Given the description of an element on the screen output the (x, y) to click on. 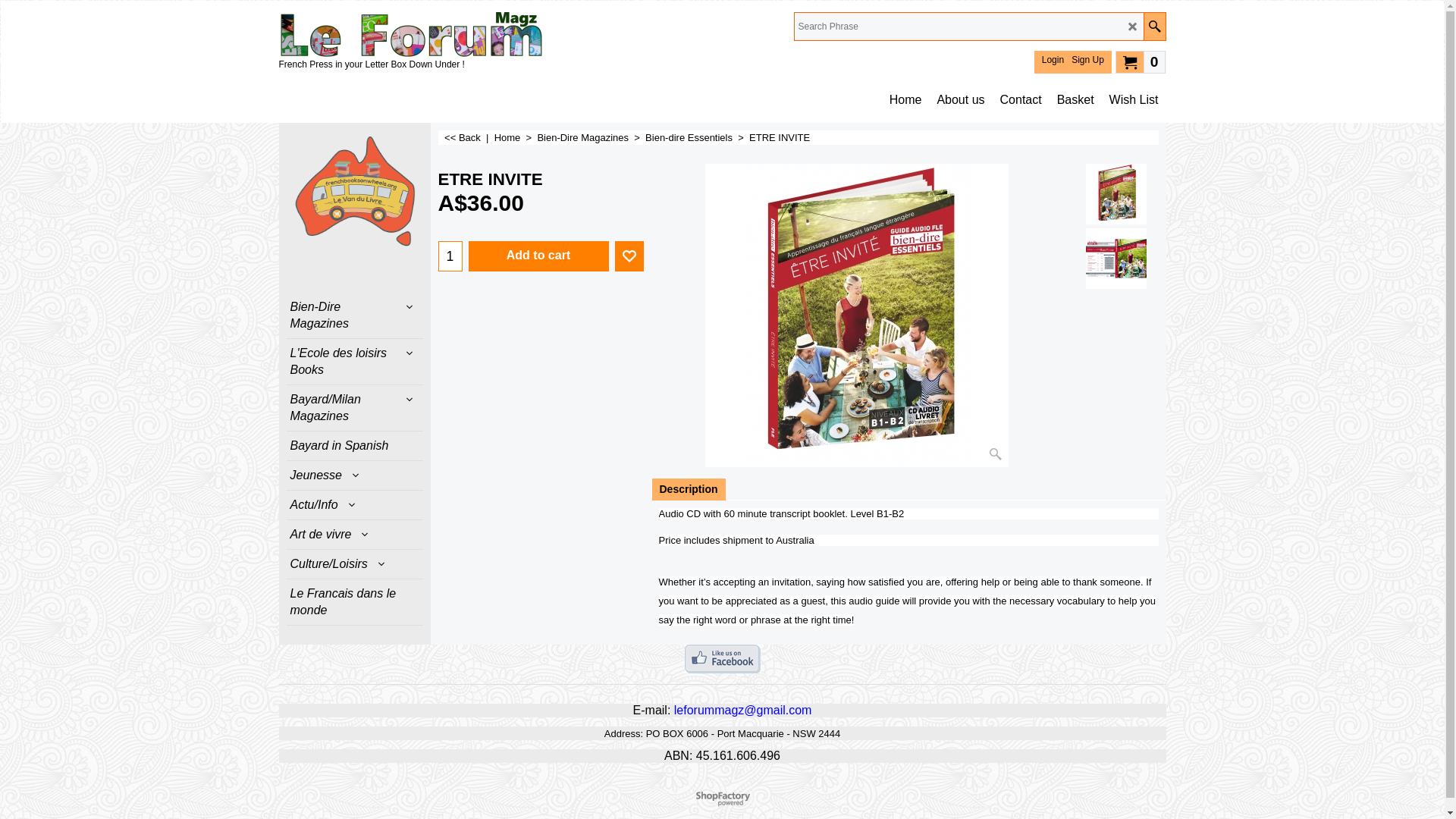
Bien-Dire Magazines  >  Element type: text (590, 137)
Login Element type: text (1052, 59)
Contact Element type: text (1020, 99)
Home  >  Element type: text (515, 137)
Le Francais dans le monde Element type: text (354, 601)
Bayard/Milan Magazines Element type: text (354, 407)
0 Element type: text (1140, 61)
ETRE INVITE Element type: text (540, 180)
Wish List Element type: text (1133, 99)
Actu/Info Element type: text (354, 504)
About us Element type: text (959, 99)
Bien-dire Essentiels  >  Element type: text (697, 137)
Description Element type: text (688, 489)
Favorites Element type: hover (628, 255)
LD_CANCEL Element type: hover (1132, 26)
Home Element type: text (905, 99)
Culture/Loisirs Element type: text (354, 563)
1 Element type: text (449, 255)
bde128-etre-invite Element type: hover (856, 315)
Art de vivre Element type: text (354, 534)
Jeunesse Element type: text (354, 475)
bde128-etre-invite (1) Element type: hover (1116, 258)
Add to cart Element type: text (537, 255)
Sign Up Element type: text (1087, 59)
Bayard in Spanish Element type: text (354, 445)
Bien-Dire Magazines Element type: text (354, 315)
L'Ecole des loisirs Books Element type: text (354, 361)
leforummagz@gmail.com Element type: text (743, 709)
bde128-etre-invite (1) Element type: hover (1115, 258)
 << Back  Element type: text (462, 137)
Find Element type: hover (1154, 26)
Basket Element type: text (1075, 99)
